Given the description of an element on the screen output the (x, y) to click on. 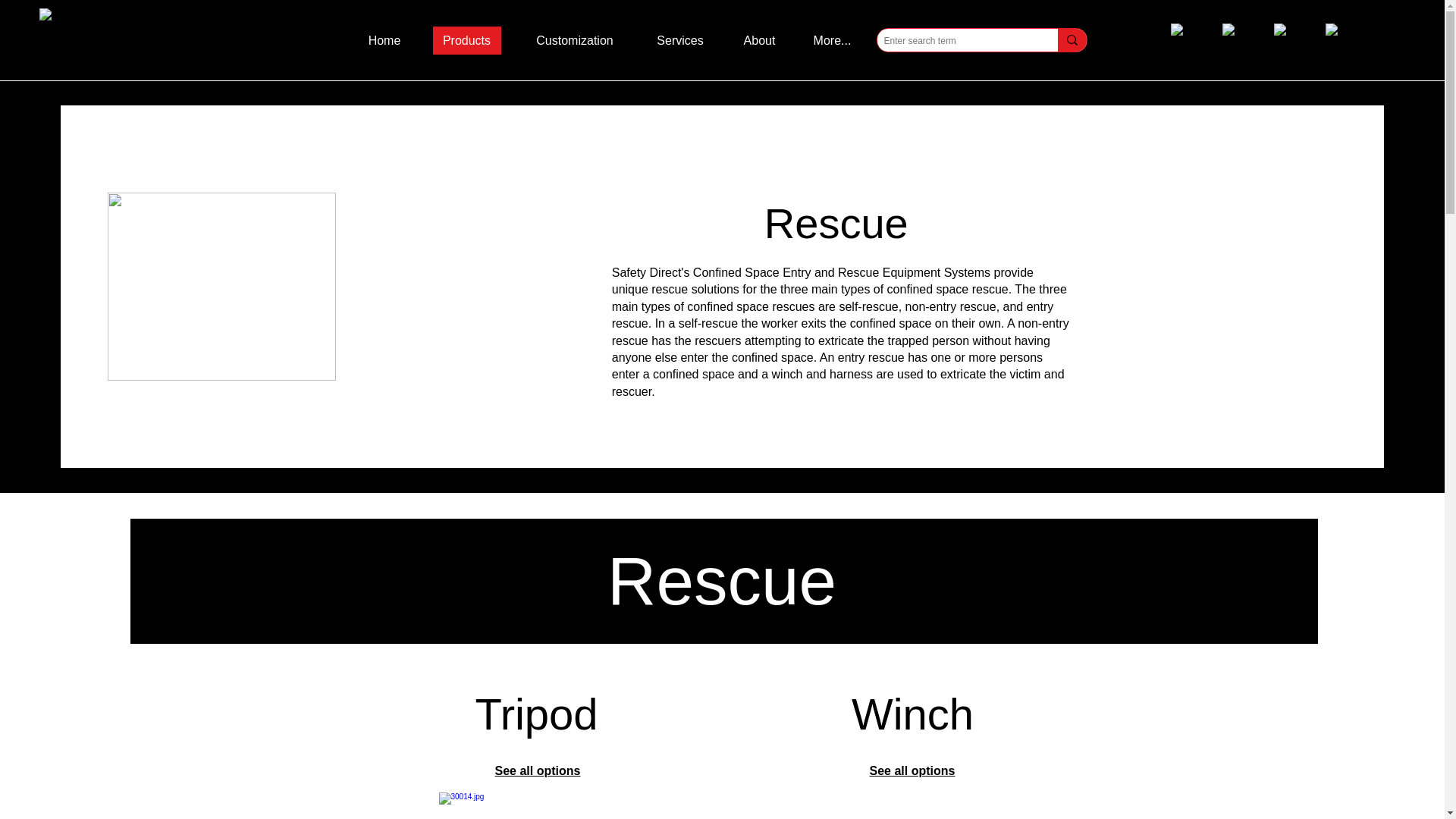
Customization (574, 40)
Products (467, 40)
About (759, 40)
See all options (537, 770)
Home (390, 40)
See all options (912, 770)
Services (679, 40)
